Given the description of an element on the screen output the (x, y) to click on. 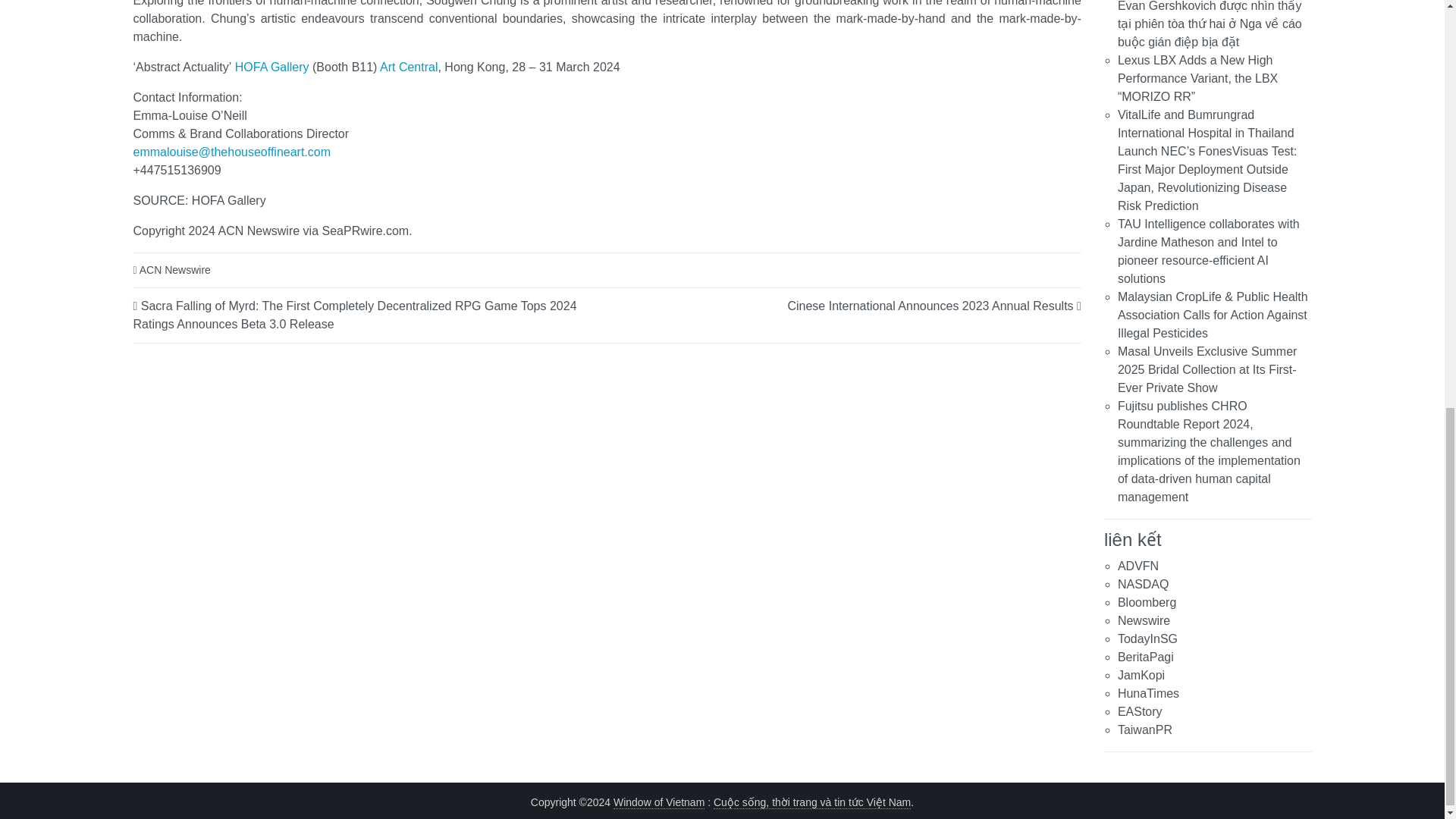
Cinese International Announces 2023 Annual Results (930, 305)
ACN Newswire (175, 269)
HOFA Gallery (271, 66)
Art Central (409, 66)
